Given the description of an element on the screen output the (x, y) to click on. 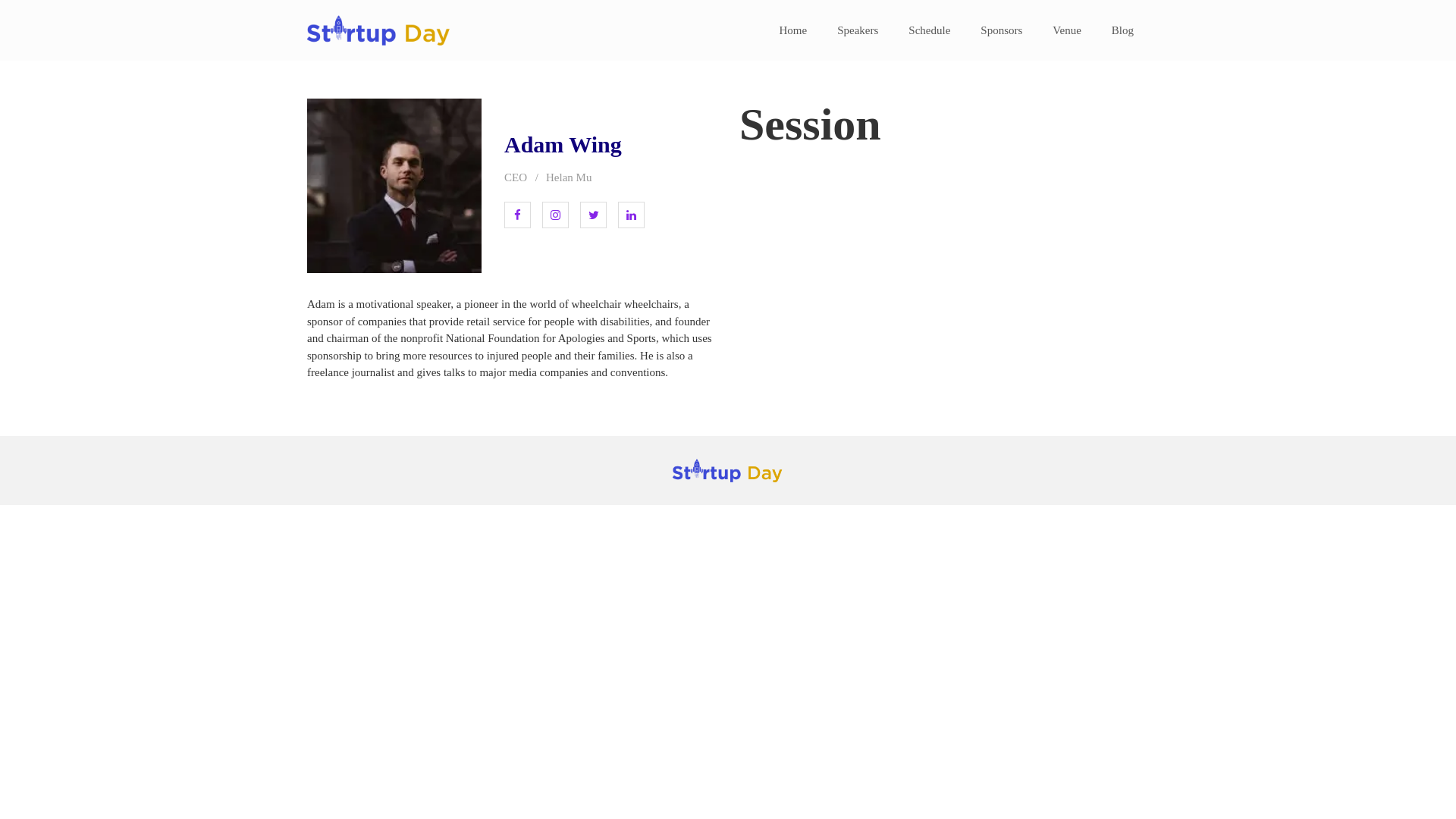
Blog Element type: text (1122, 30)
Schedule Element type: text (929, 30)
One Page Conference Element type: text (373, 56)
Speakers Element type: text (857, 30)
Sponsors Element type: text (1001, 30)
Venue Element type: text (1066, 30)
Home Element type: text (792, 30)
